Given the description of an element on the screen output the (x, y) to click on. 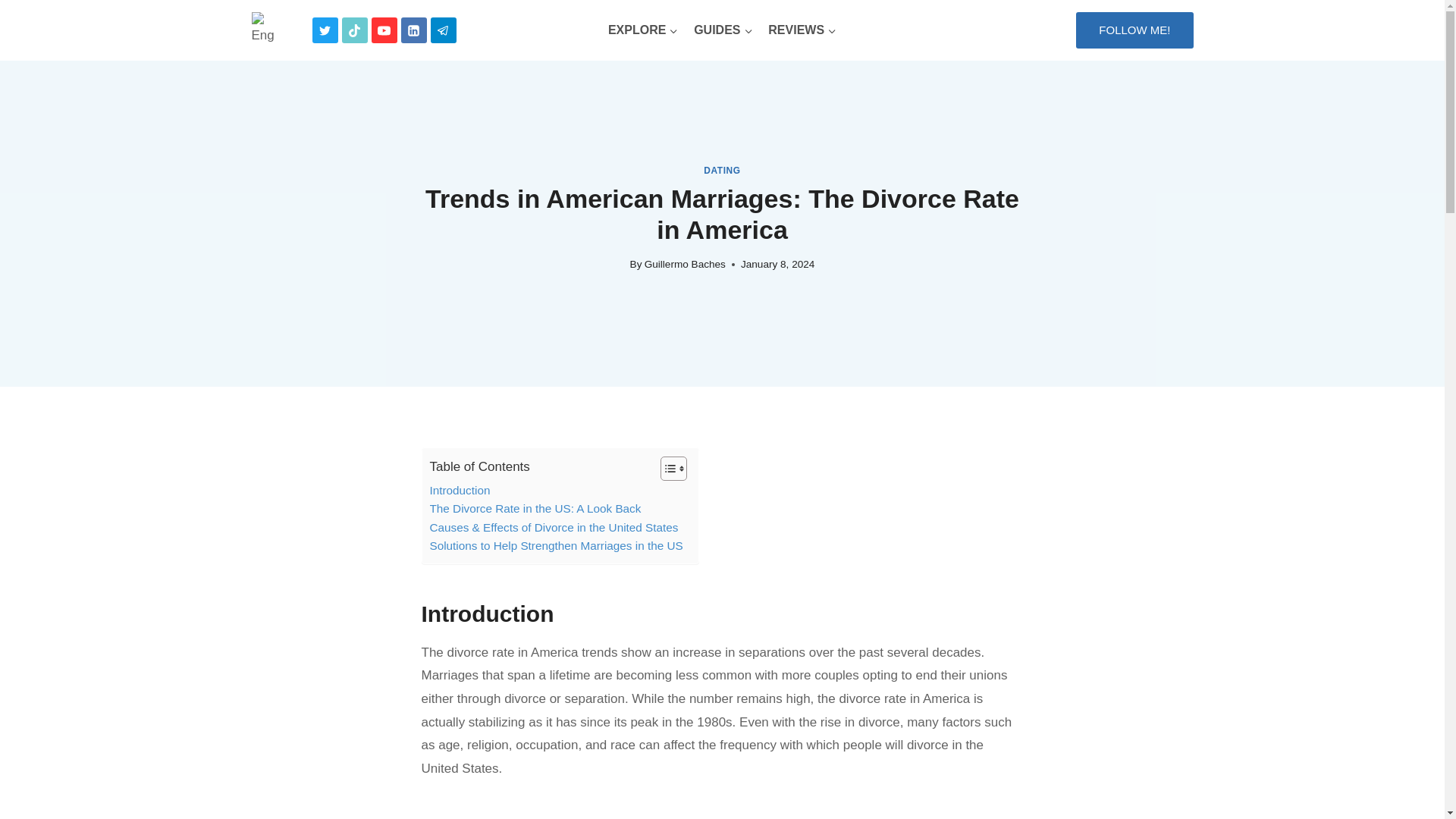
EXPLORE (642, 29)
REVIEWS (802, 29)
The Divorce Rate in the US: A Look Back (534, 508)
Introduction (459, 490)
FOLLOW ME! (1133, 30)
DATING (721, 170)
GUIDES (722, 29)
Solutions to Help Strengthen Marriages in the US (555, 546)
Guillermo Baches (685, 264)
